Given the description of an element on the screen output the (x, y) to click on. 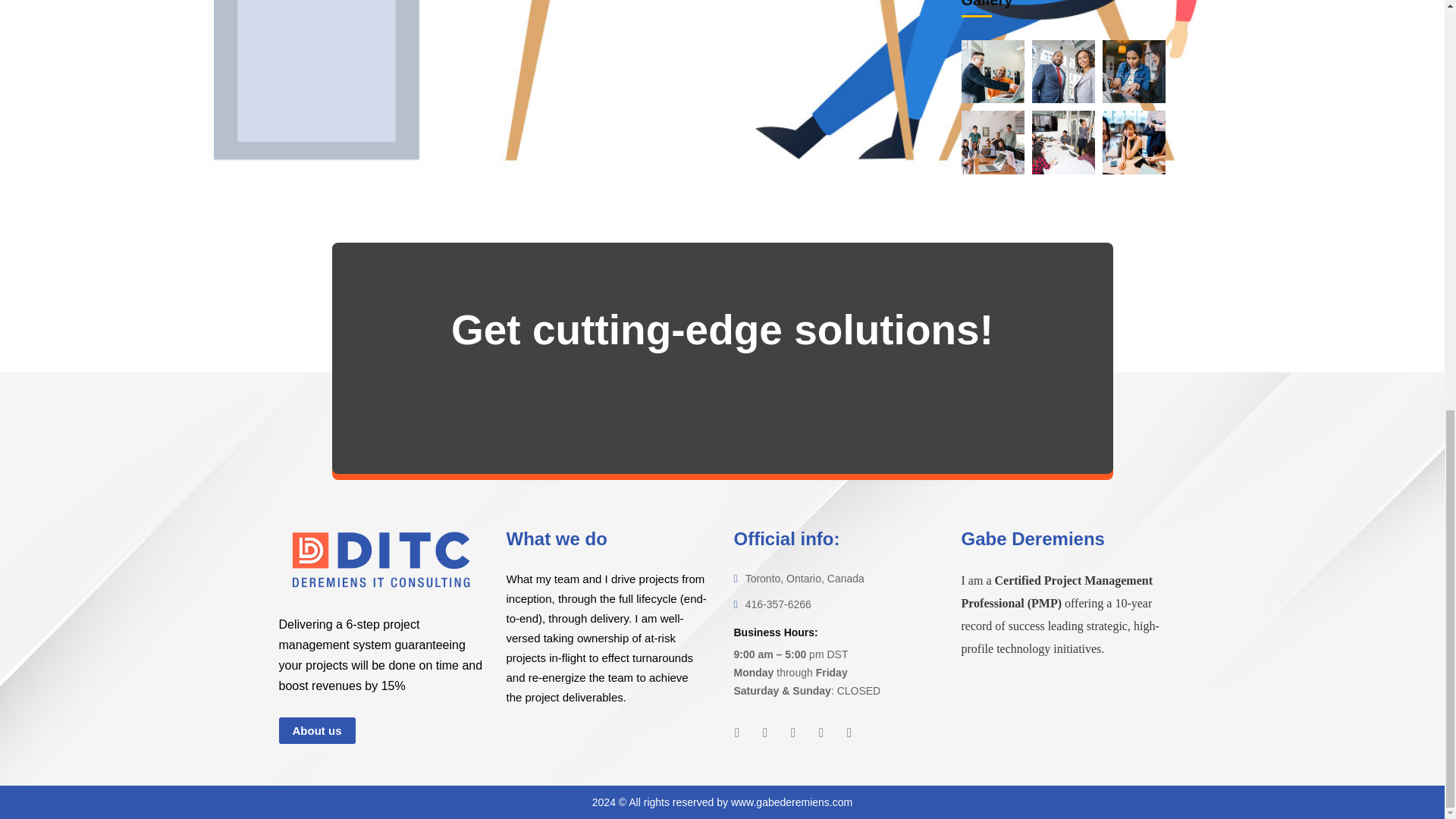
www.gabederemiens.com (790, 802)
About us (317, 730)
